Given the description of an element on the screen output the (x, y) to click on. 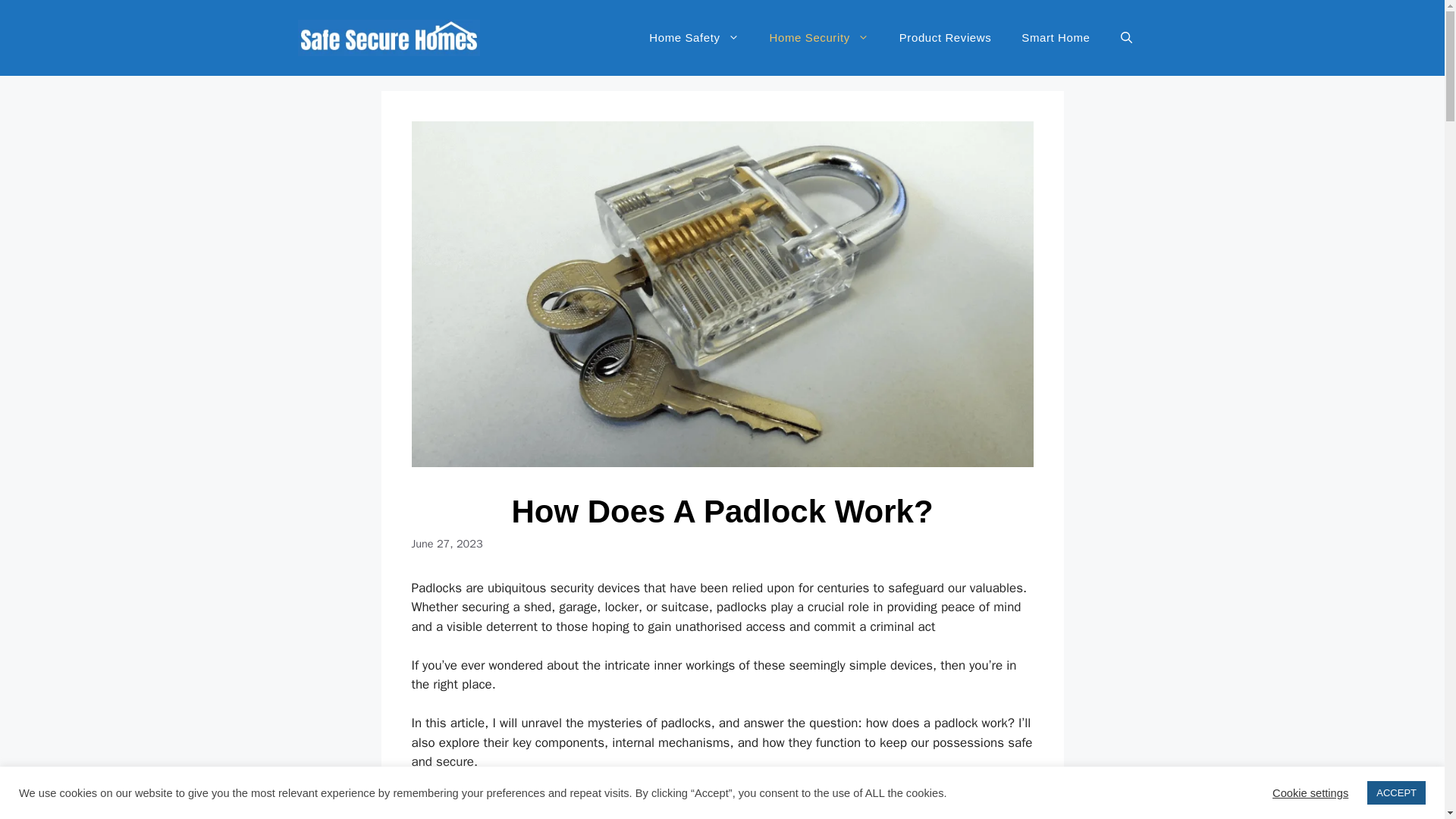
Product Reviews (945, 37)
Home Safety (693, 37)
Smart Home (1055, 37)
Home Security (818, 37)
